Given the description of an element on the screen output the (x, y) to click on. 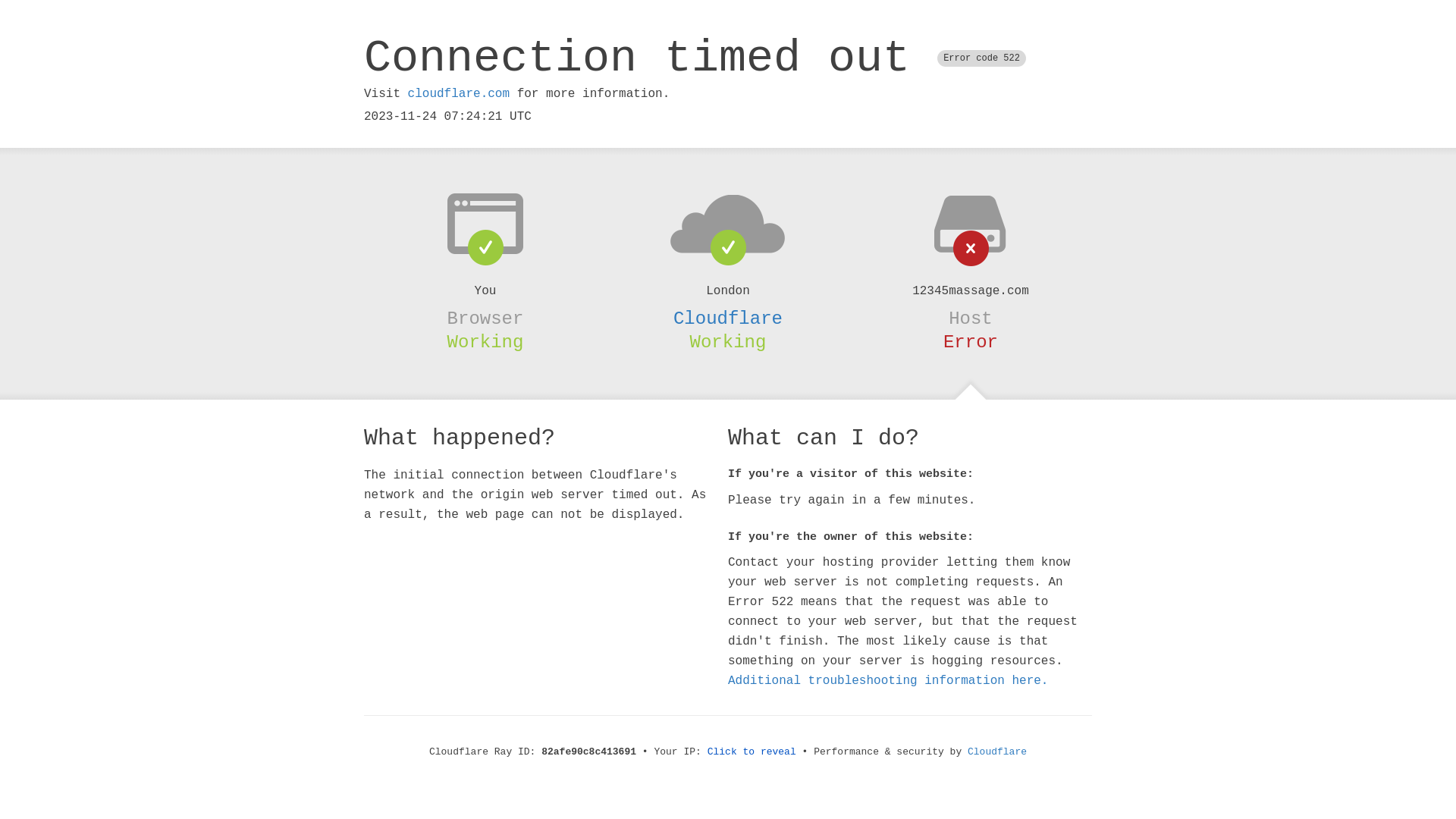
Click to reveal Element type: text (751, 751)
Additional troubleshooting information here. Element type: text (888, 680)
cloudflare.com Element type: text (458, 93)
Cloudflare Element type: text (996, 751)
Cloudflare Element type: text (727, 318)
